Given the description of an element on the screen output the (x, y) to click on. 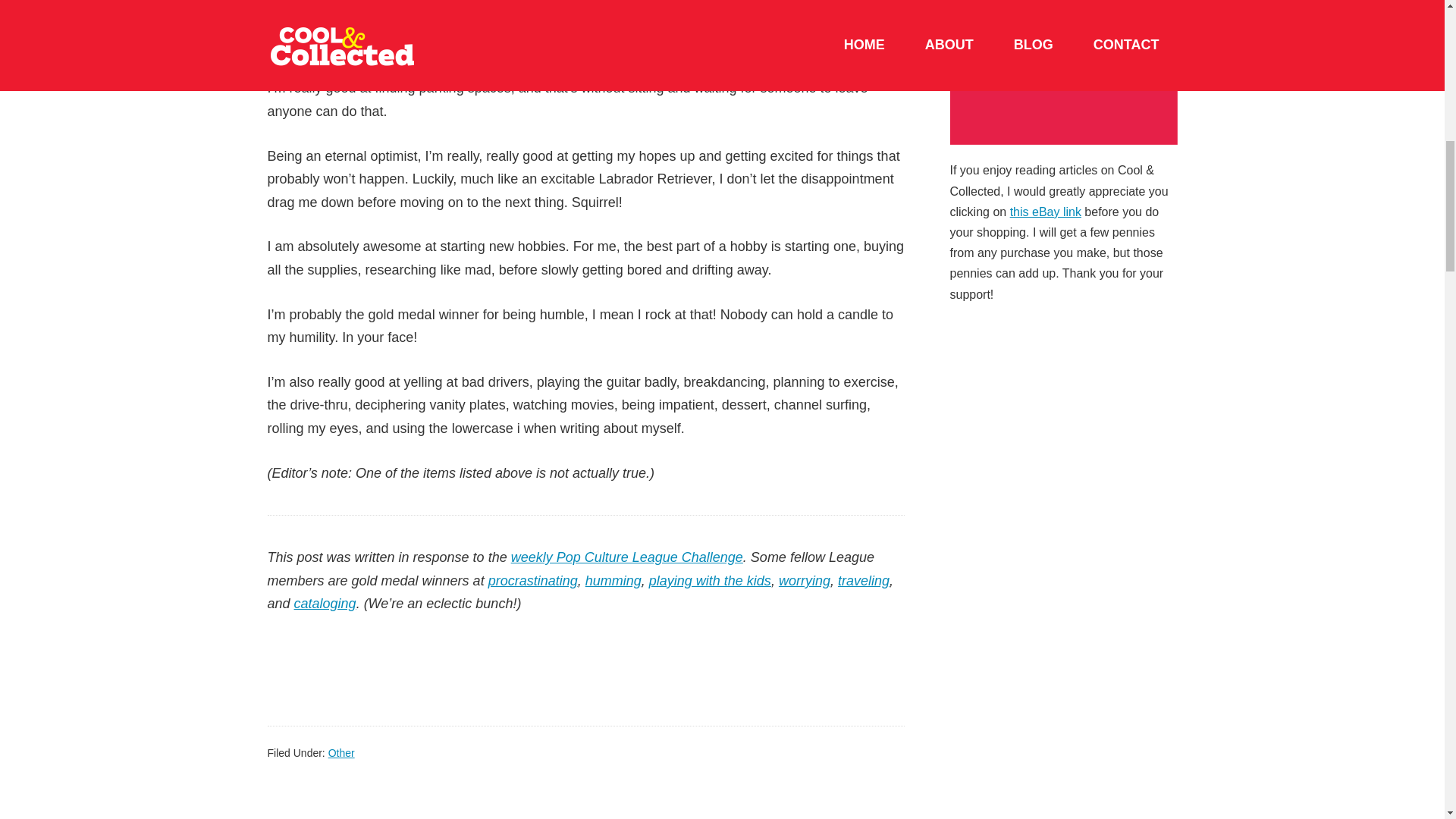
humming (613, 580)
cataloging (325, 603)
traveling (863, 580)
playing with the kids (710, 580)
procrastinating (532, 580)
Other (342, 752)
worrying (803, 580)
weekly Pop Culture League Challenge (626, 557)
